Given the description of an element on the screen output the (x, y) to click on. 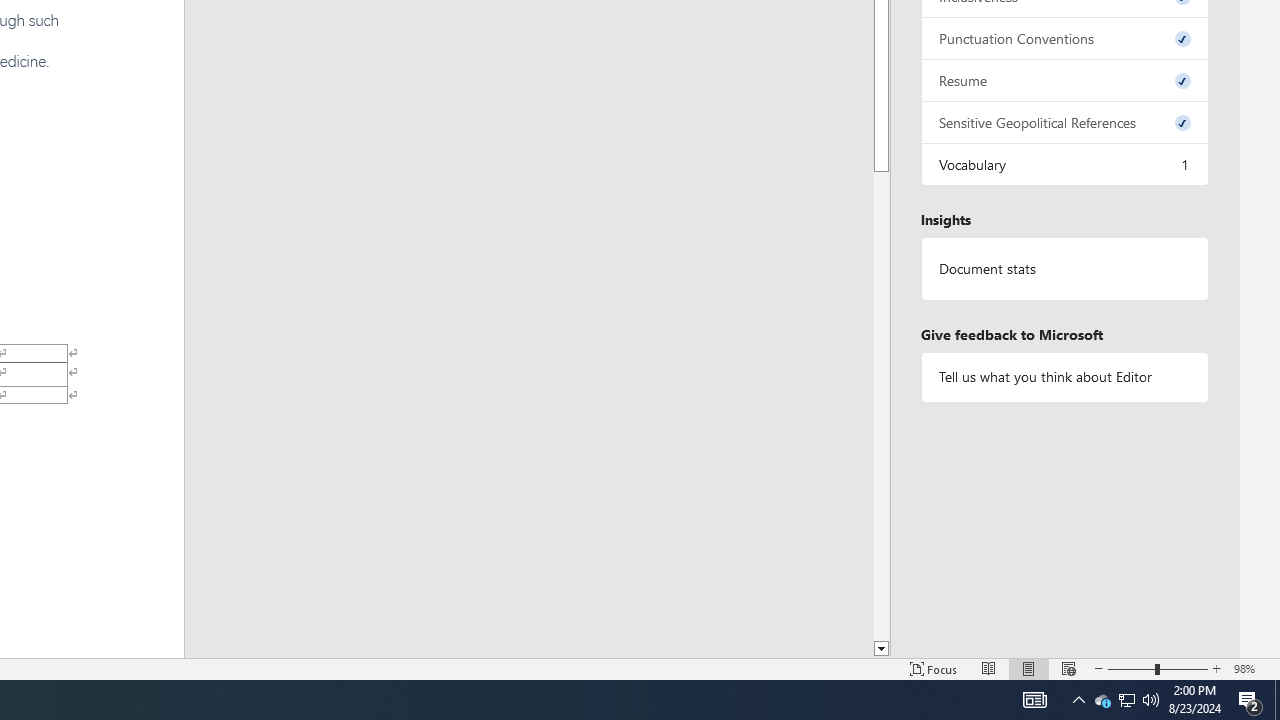
Tell us what you think about Editor (1064, 376)
Document statistics (1064, 269)
Vocabulary, 1 issue. Press space or enter to review items. (1064, 164)
Page down (880, 406)
Line down (880, 649)
Resume, 0 issues. Press space or enter to review items. (1064, 79)
